Given the description of an element on the screen output the (x, y) to click on. 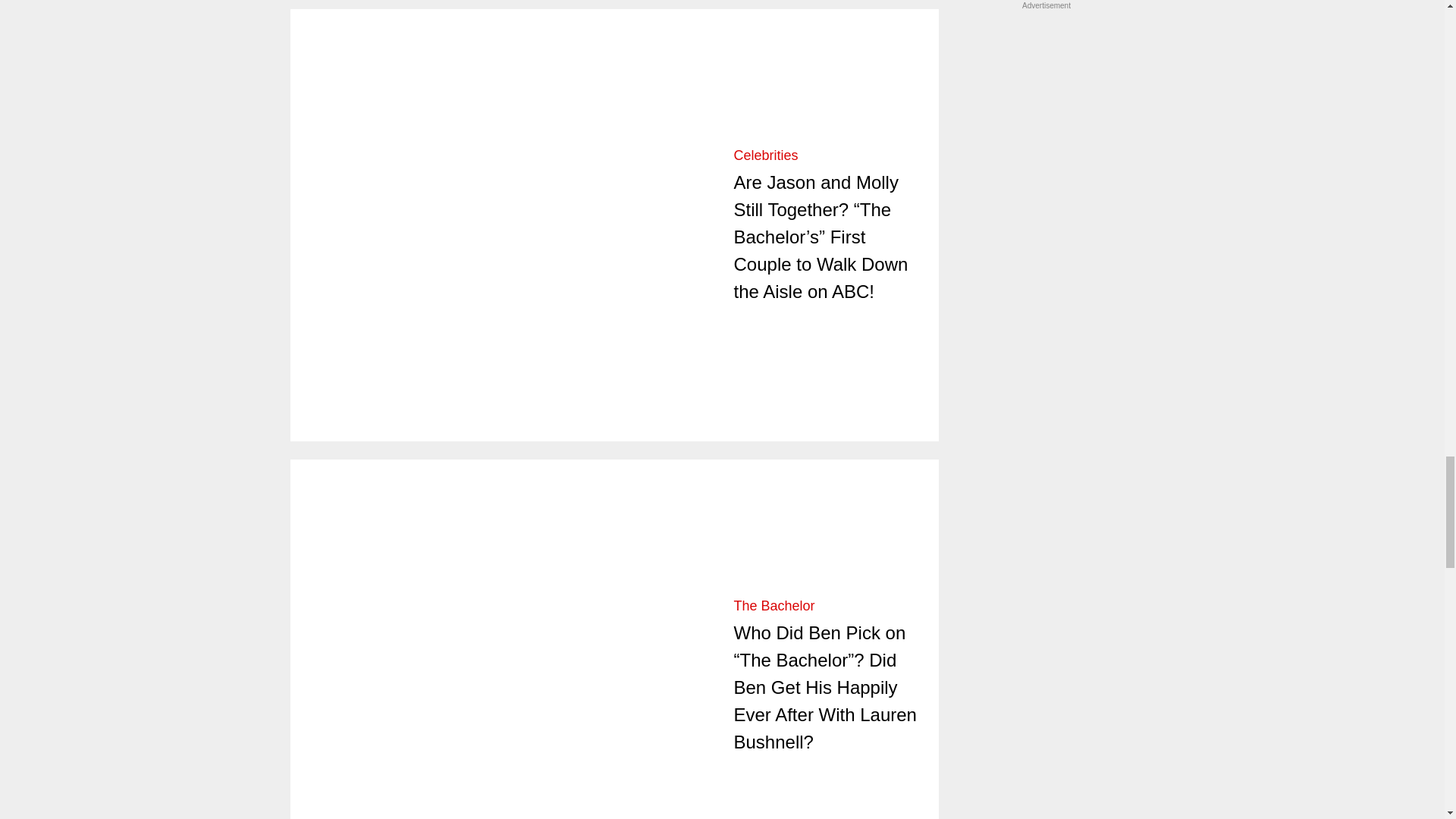
Category Name (765, 155)
Category Name (774, 605)
